Given the description of an element on the screen output the (x, y) to click on. 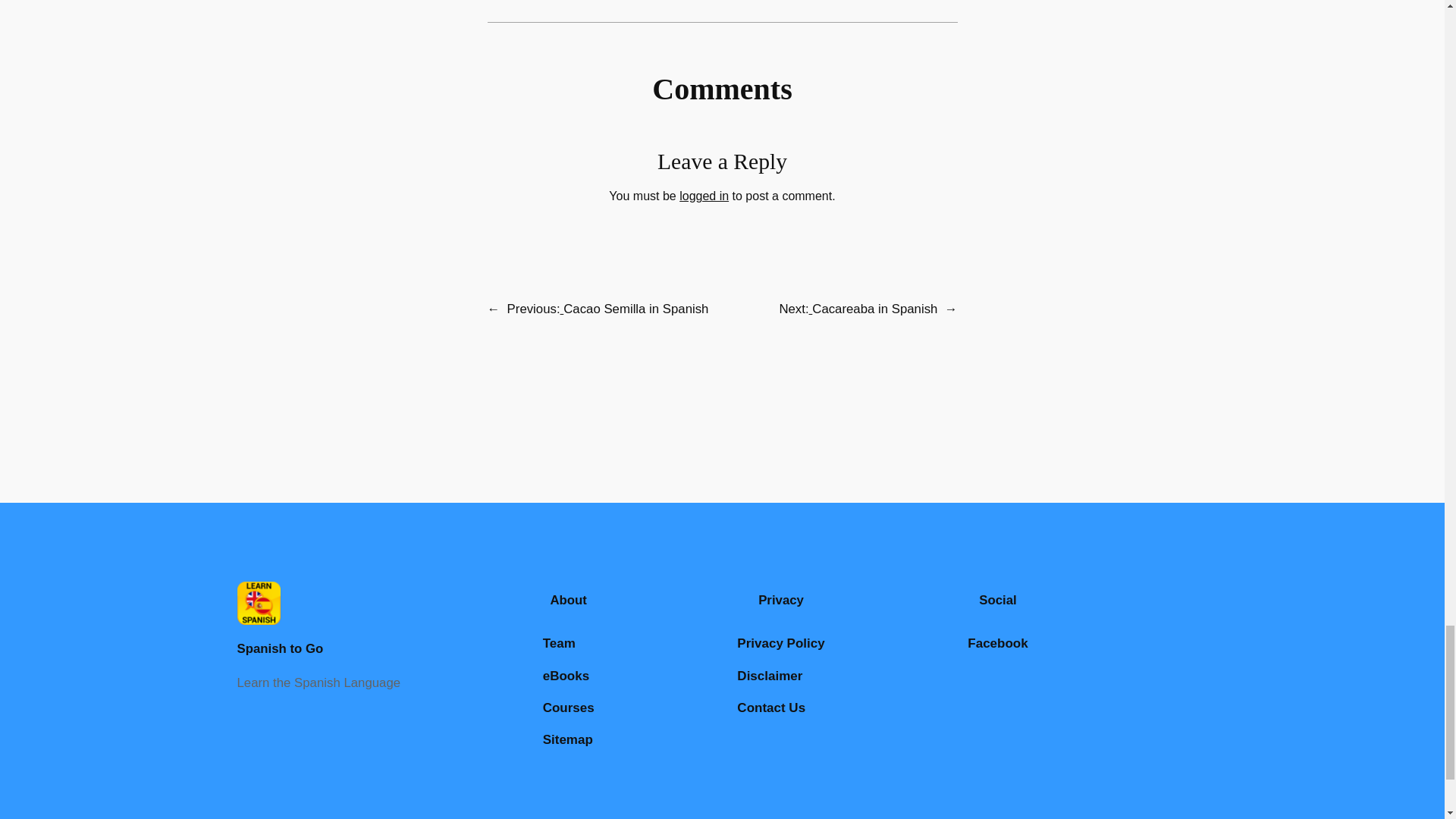
Previous: Cacao Semilla in Spanish (607, 309)
Team (559, 643)
logged in (704, 195)
Spanish to Go (279, 648)
Next: Cacareaba in Spanish (857, 309)
eBooks (566, 676)
Courses (568, 708)
